Given the description of an element on the screen output the (x, y) to click on. 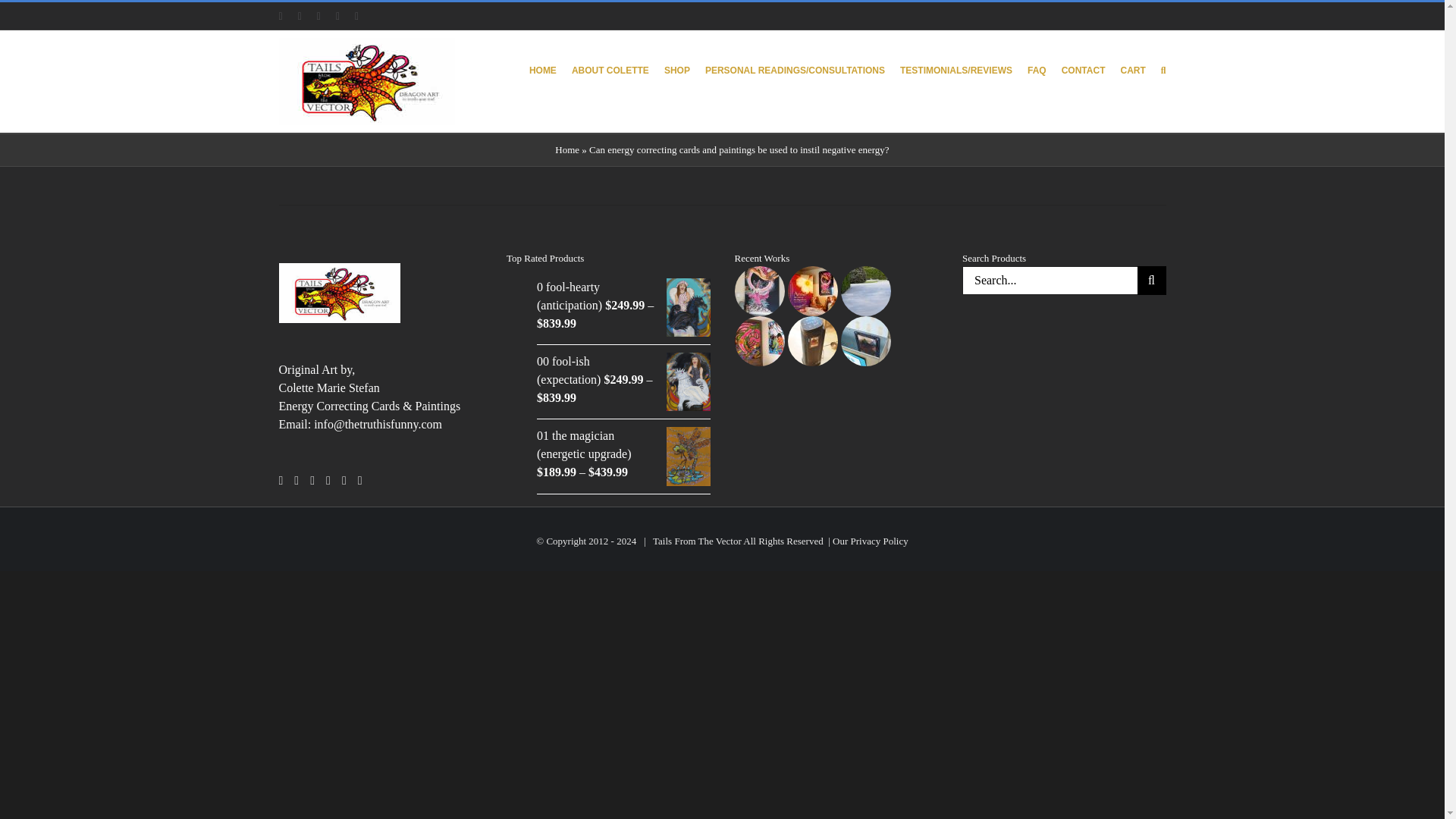
SEXUALITY III (864, 274)
ABOUT COLETTE (610, 69)
